Given the description of an element on the screen output the (x, y) to click on. 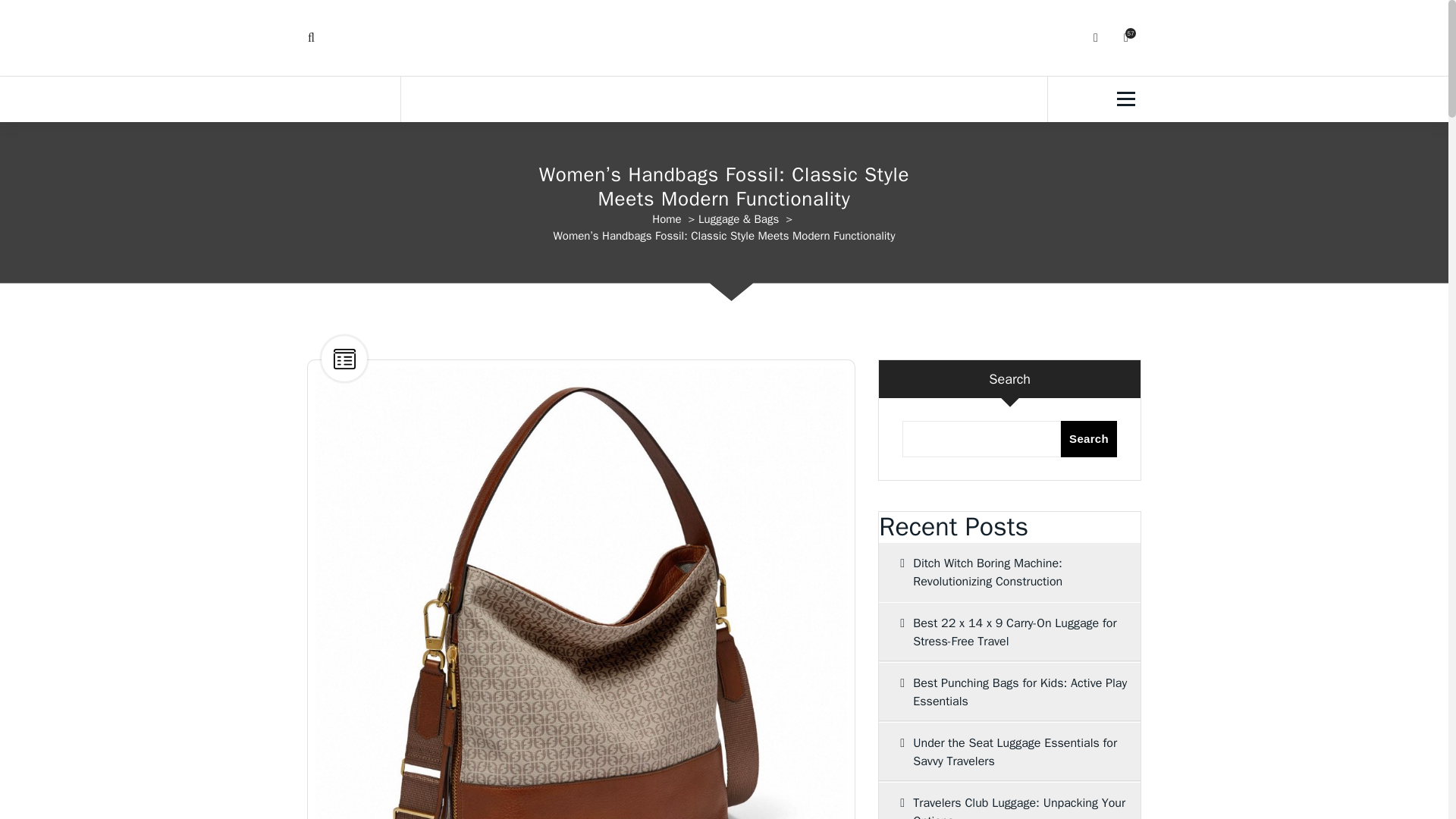
Ditch Witch Boring Machine: Revolutionizing Construction (1009, 571)
Under the Seat Luggage Essentials for Savvy Travelers (1009, 752)
Best Punching Bags for Kids: Active Play Essentials (1009, 691)
Best 22 x 14 x 9 Carry-On Luggage for Stress-Free Travel (1009, 631)
Bags Galore (723, 33)
57 (1125, 37)
Search (1088, 438)
Home (666, 219)
